Given the description of an element on the screen output the (x, y) to click on. 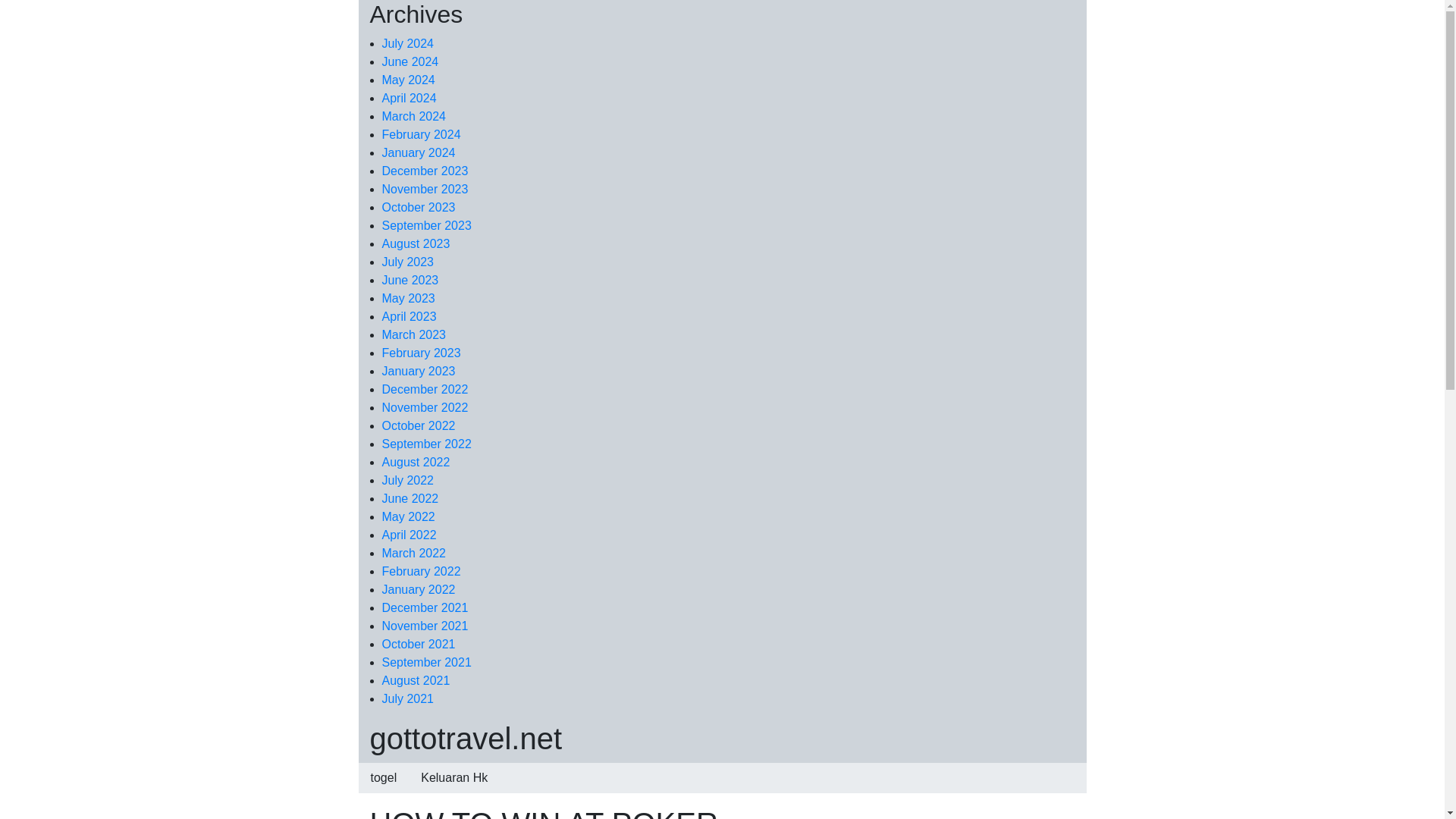
January 2024 (418, 152)
June 2023 (410, 279)
gottotravel.net (465, 738)
May 2024 (408, 79)
June 2024 (410, 61)
September 2022 (426, 443)
November 2022 (424, 407)
August 2022 (415, 461)
October 2021 (418, 644)
April 2023 (408, 316)
January 2022 (418, 589)
February 2022 (421, 571)
February 2024 (421, 133)
July 2022 (407, 480)
May 2022 (408, 516)
